Given the description of an element on the screen output the (x, y) to click on. 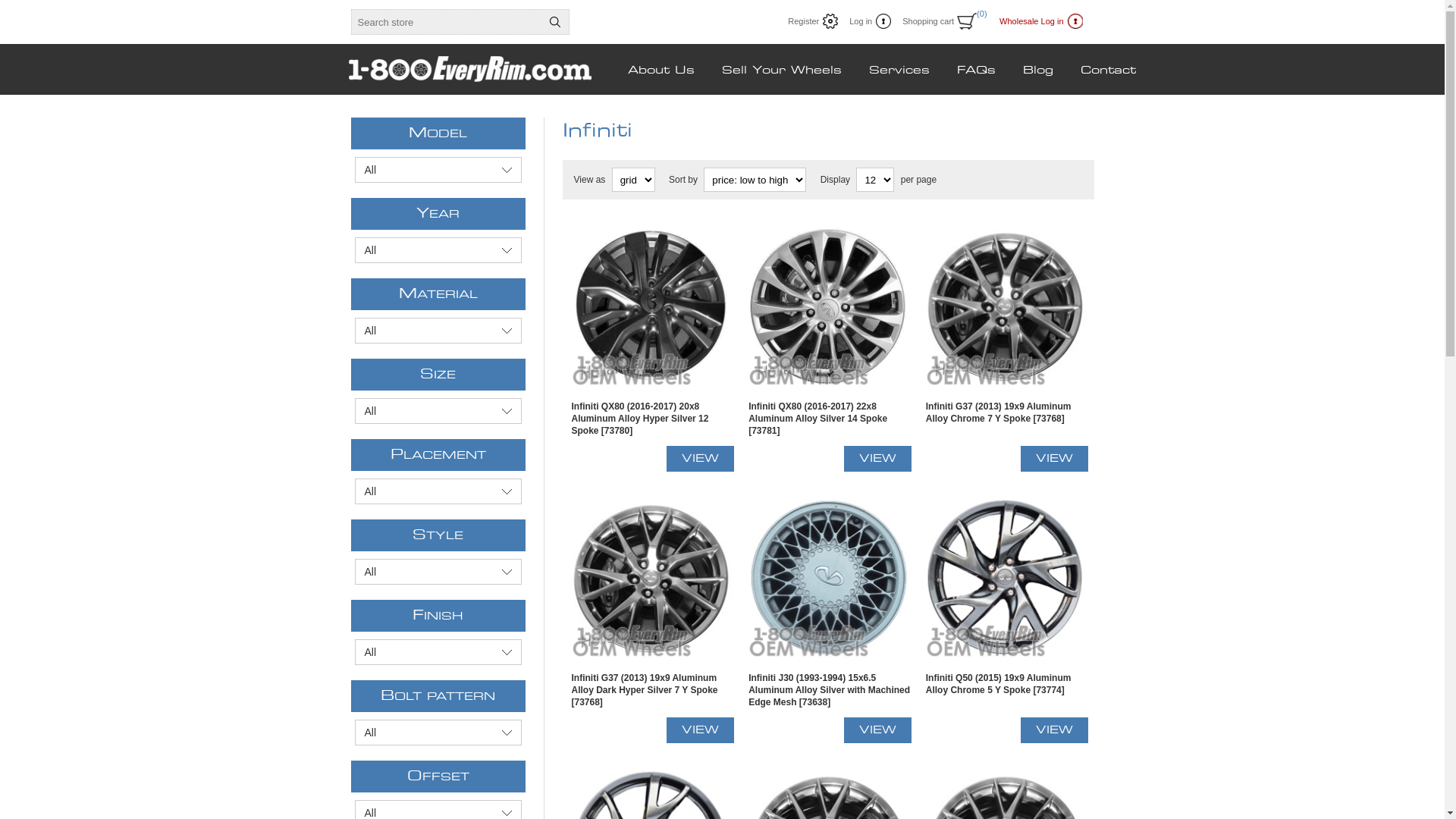
STYLE Element type: text (437, 535)
FAQs Element type: text (976, 70)
Register Element type: text (812, 21)
MODEL Element type: text (437, 133)
MATERIAL Element type: text (437, 294)
Sell Your Wheels Element type: text (781, 70)
PLACEMENT Element type: text (437, 454)
Shopping cart
(0) Element type: text (939, 21)
Log in Element type: text (870, 21)
FINISH Element type: text (437, 615)
Wholesale Log in Element type: text (1040, 21)
SIZE Element type: text (437, 374)
Blog Element type: text (1037, 70)
YEAR Element type: text (437, 213)
Search Element type: text (554, 21)
Services Element type: text (899, 70)
OFFSET Element type: text (437, 776)
BOLT PATTERN Element type: text (437, 696)
About Us Element type: text (660, 70)
Contact Element type: text (1107, 70)
